Given the description of an element on the screen output the (x, y) to click on. 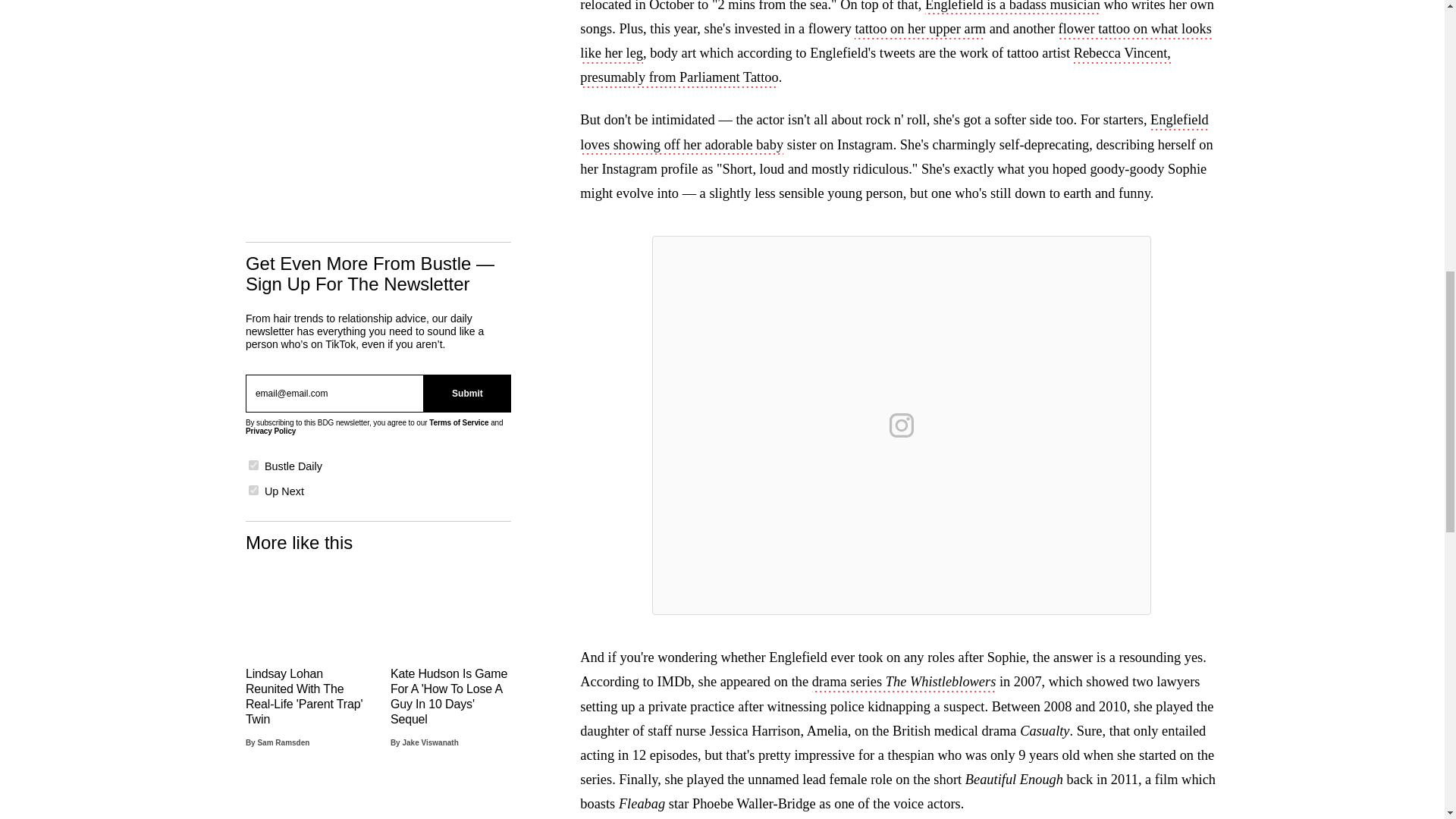
Privacy Policy (270, 430)
Englefield loves showing off her adorable baby (893, 133)
Submit (467, 393)
View on Instagram (901, 425)
Terms of Service (458, 422)
flower tattoo on what looks like her leg (895, 42)
Englefield is a badass musician (1012, 7)
drama series The Whistleblowers (903, 683)
Rebecca Vincent, presumably from Parliament Tattoo (874, 66)
tattoo on her upper arm (919, 30)
